Given the description of an element on the screen output the (x, y) to click on. 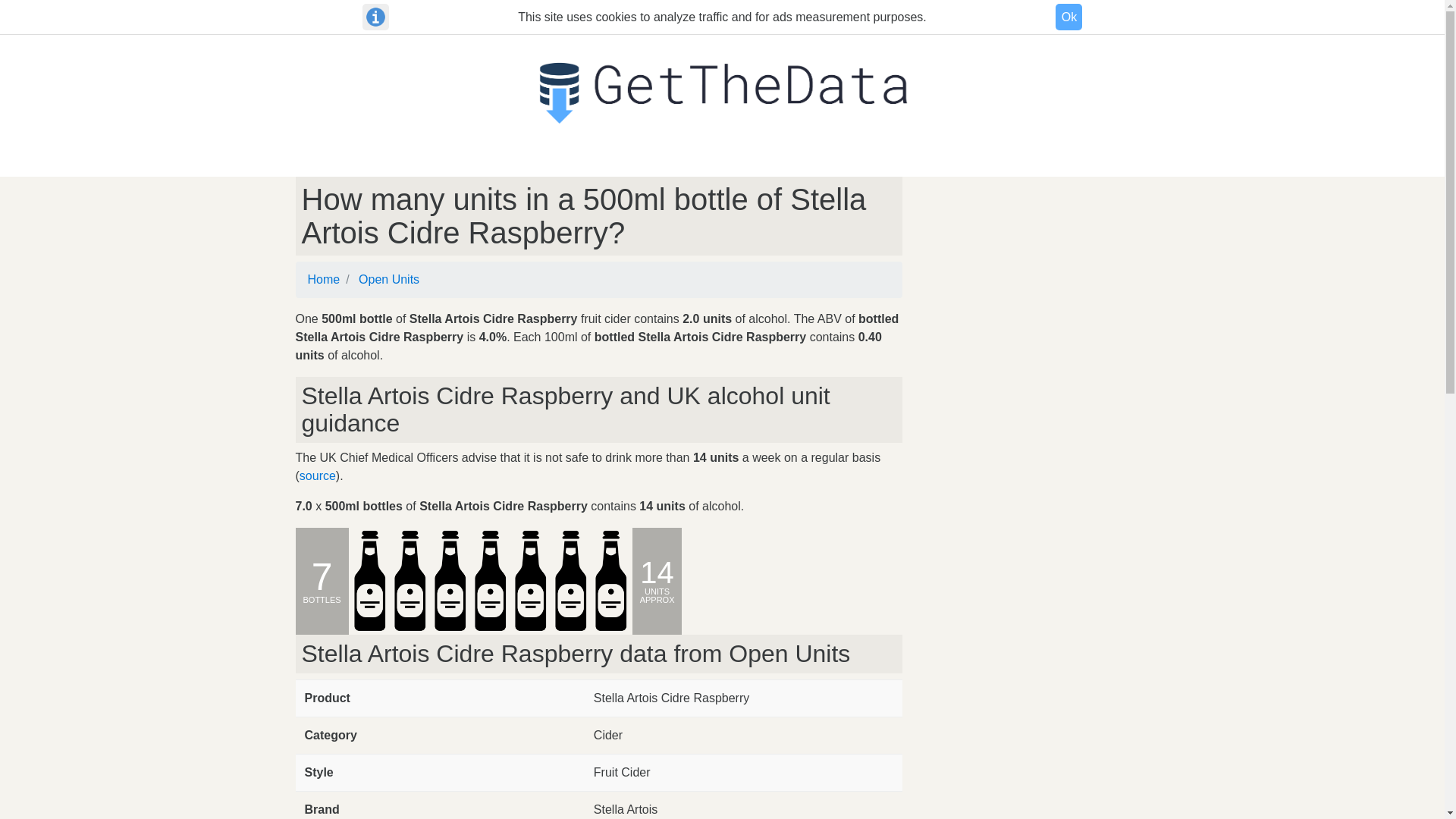
Ok (1068, 17)
Home (323, 278)
source (317, 475)
Open Units (388, 278)
